Given the description of an element on the screen output the (x, y) to click on. 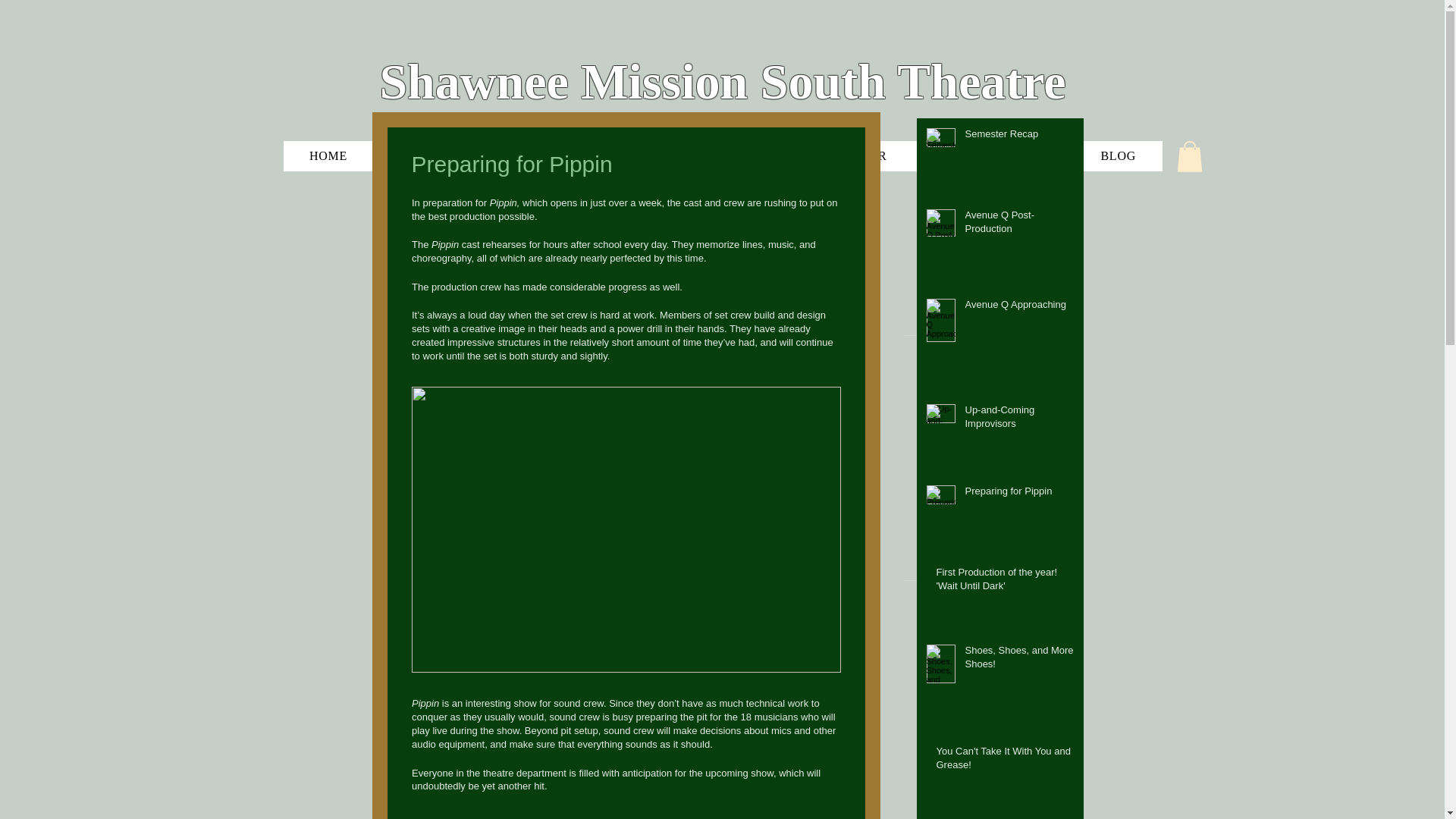
Semester Recap (1018, 137)
CALENDAR (851, 155)
Avenue Q Approaching (1018, 307)
ARCHIVE (727, 155)
You Can't Take It With You and Grease! (1005, 761)
First Production of the year! 'Wait Until Dark' (1005, 581)
ABOUT US (608, 155)
Shoes, Shoes, and More Shoes! (1018, 660)
Up-and-Coming Improvisors (1018, 419)
Avenue Q Post-Production (1018, 224)
